Given the description of an element on the screen output the (x, y) to click on. 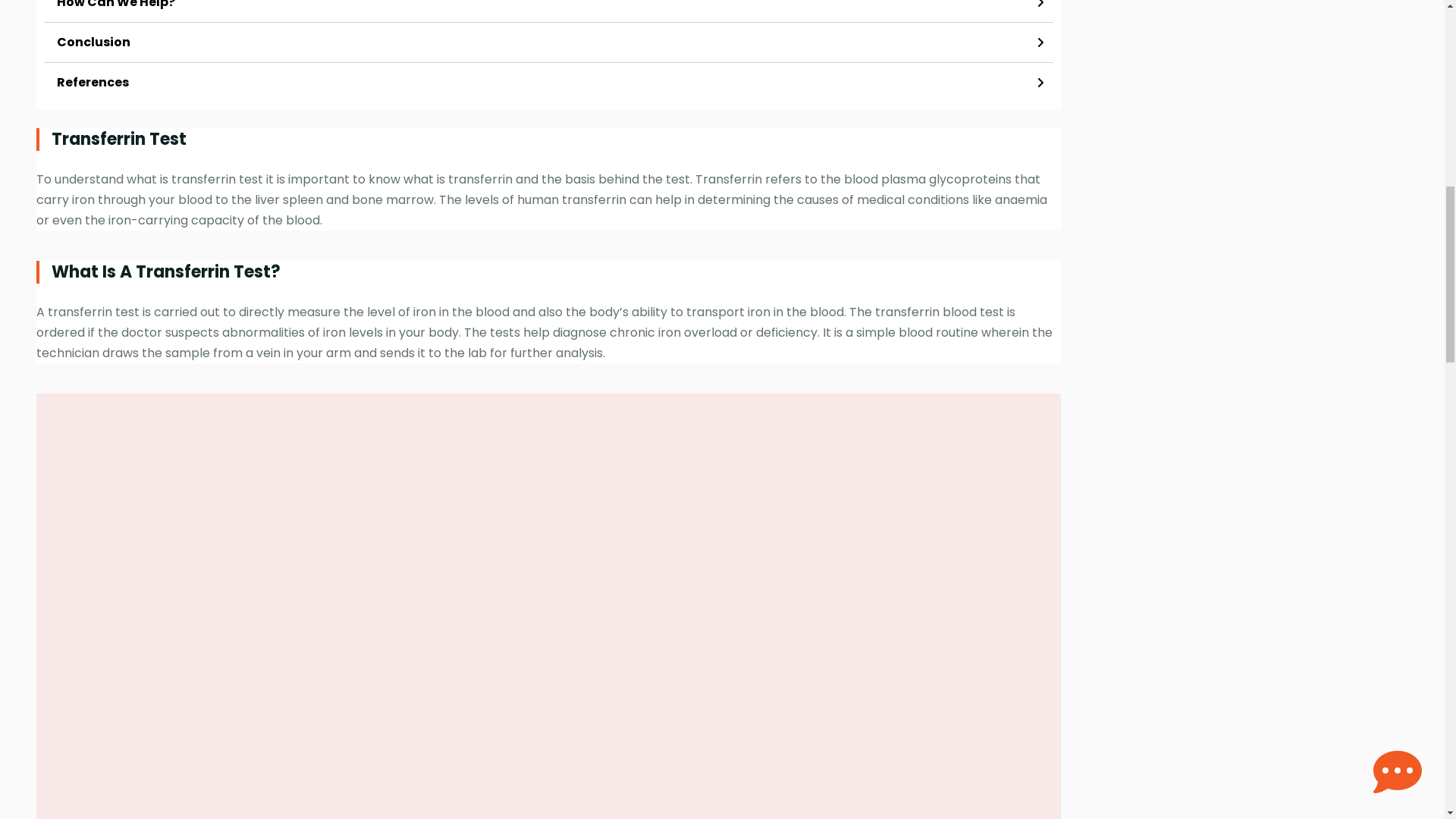
Conclusion (547, 42)
How Can We Help? (547, 11)
References (547, 82)
